Given the description of an element on the screen output the (x, y) to click on. 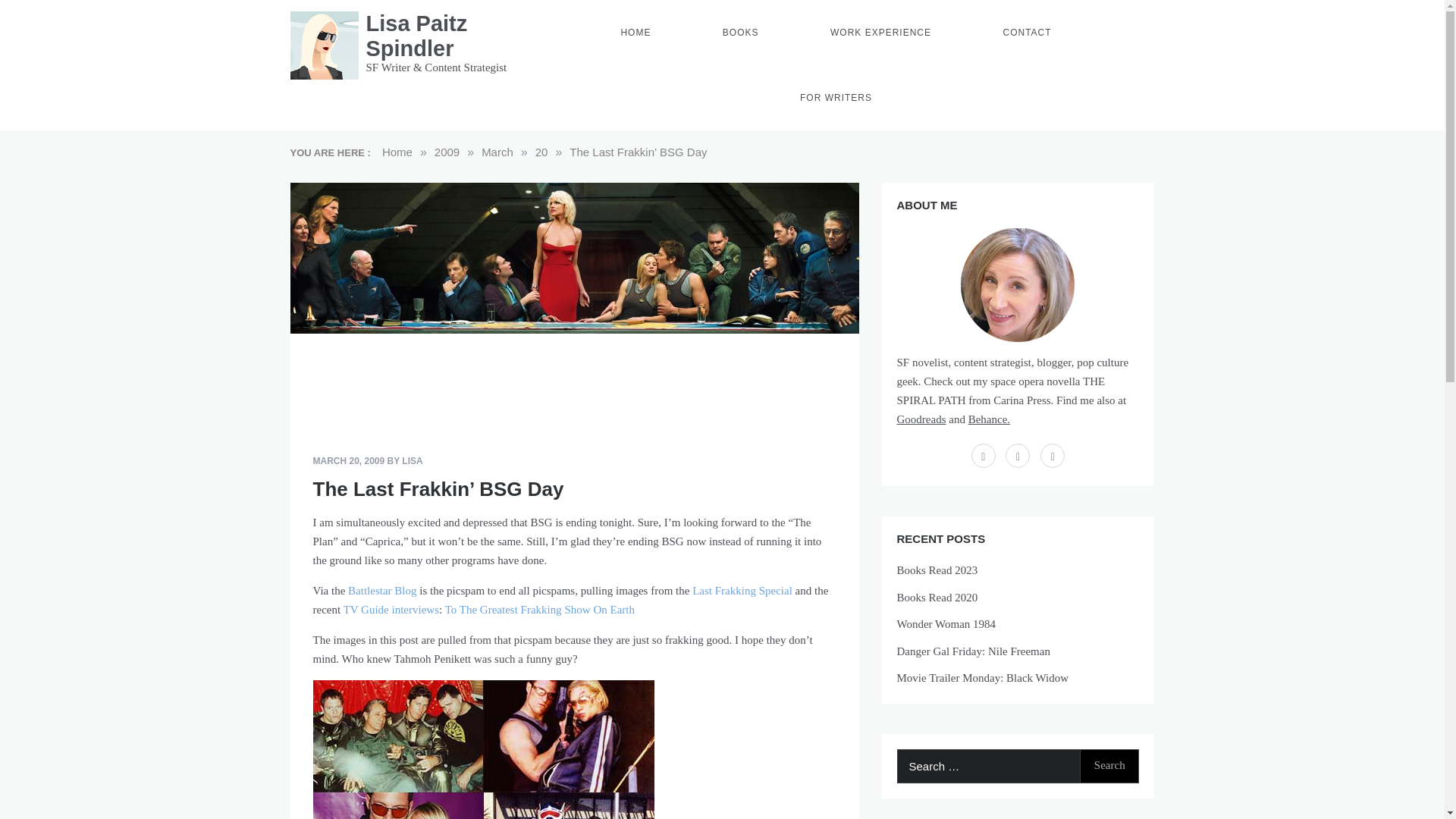
Search (1109, 765)
Behance. (989, 418)
March (497, 151)
tahmoh (483, 749)
Lisa Paitz Spindler (416, 35)
HOME (635, 32)
MARCH 20, 2009 (348, 460)
Last Frakking Special (742, 590)
Danger Gal Friday: Nile Freeman (972, 650)
CONTACT (1026, 32)
